Given the description of an element on the screen output the (x, y) to click on. 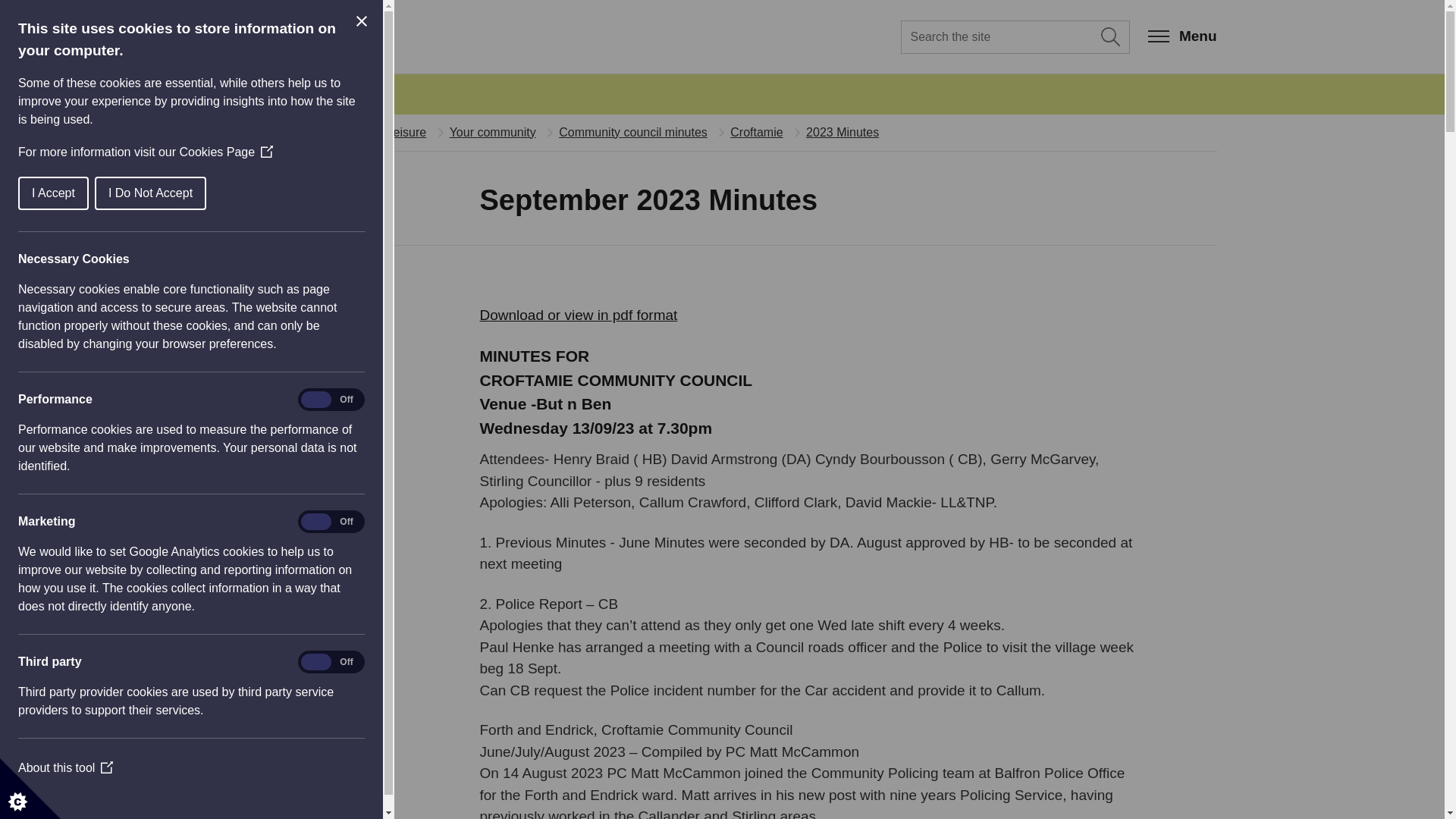
Home (243, 132)
Menu (1182, 36)
Download or view in pdf format (578, 314)
2023 Minutes (842, 132)
Your community (492, 132)
Community life and leisure (354, 132)
Cookie Control (30, 788)
Service updates (306, 93)
Croftamie (756, 132)
September 23 Croftamie CC Approved Minutes (578, 314)
Community council minutes (633, 132)
